Given the description of an element on the screen output the (x, y) to click on. 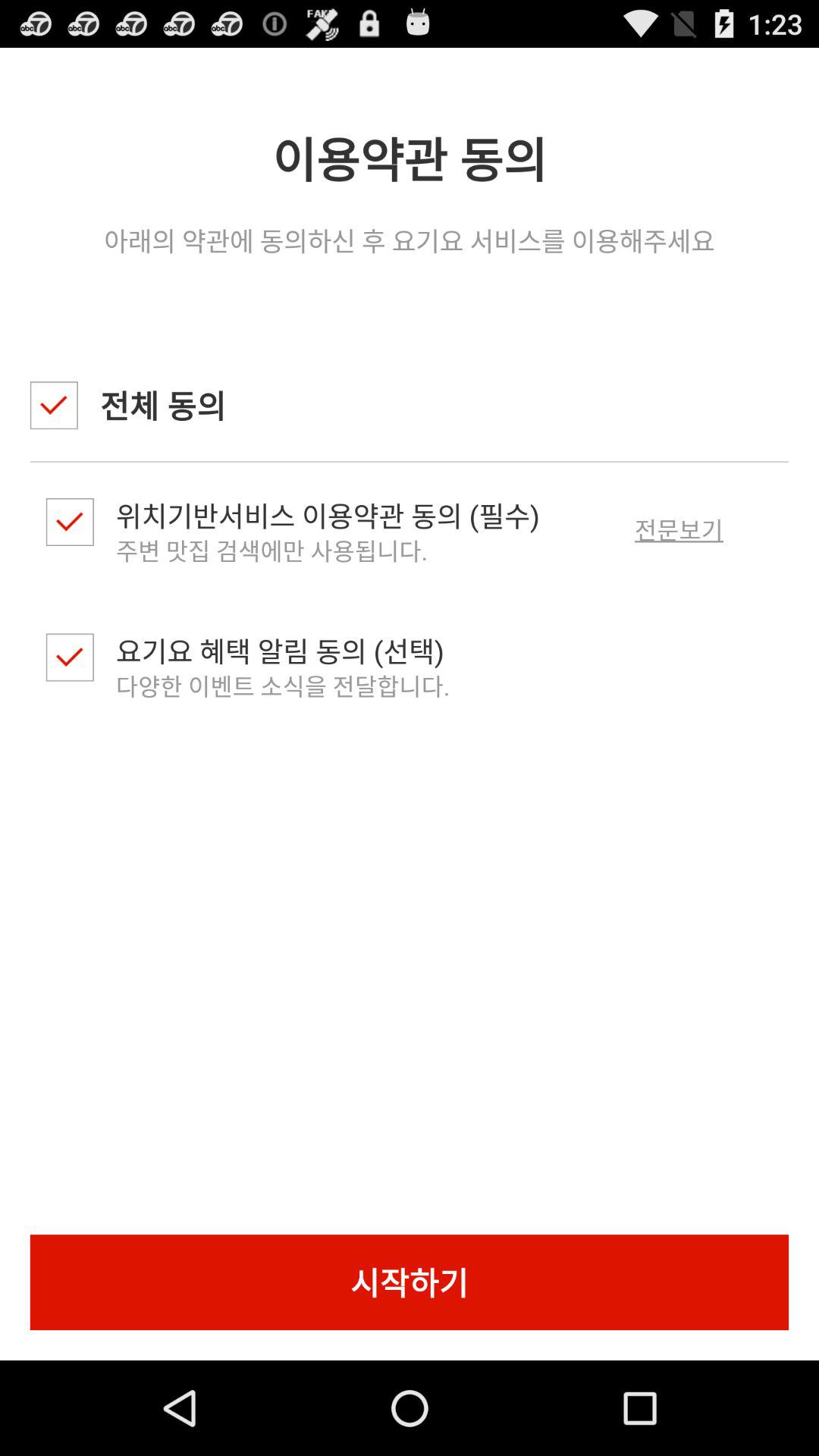
open the icon on the right (679, 529)
